Given the description of an element on the screen output the (x, y) to click on. 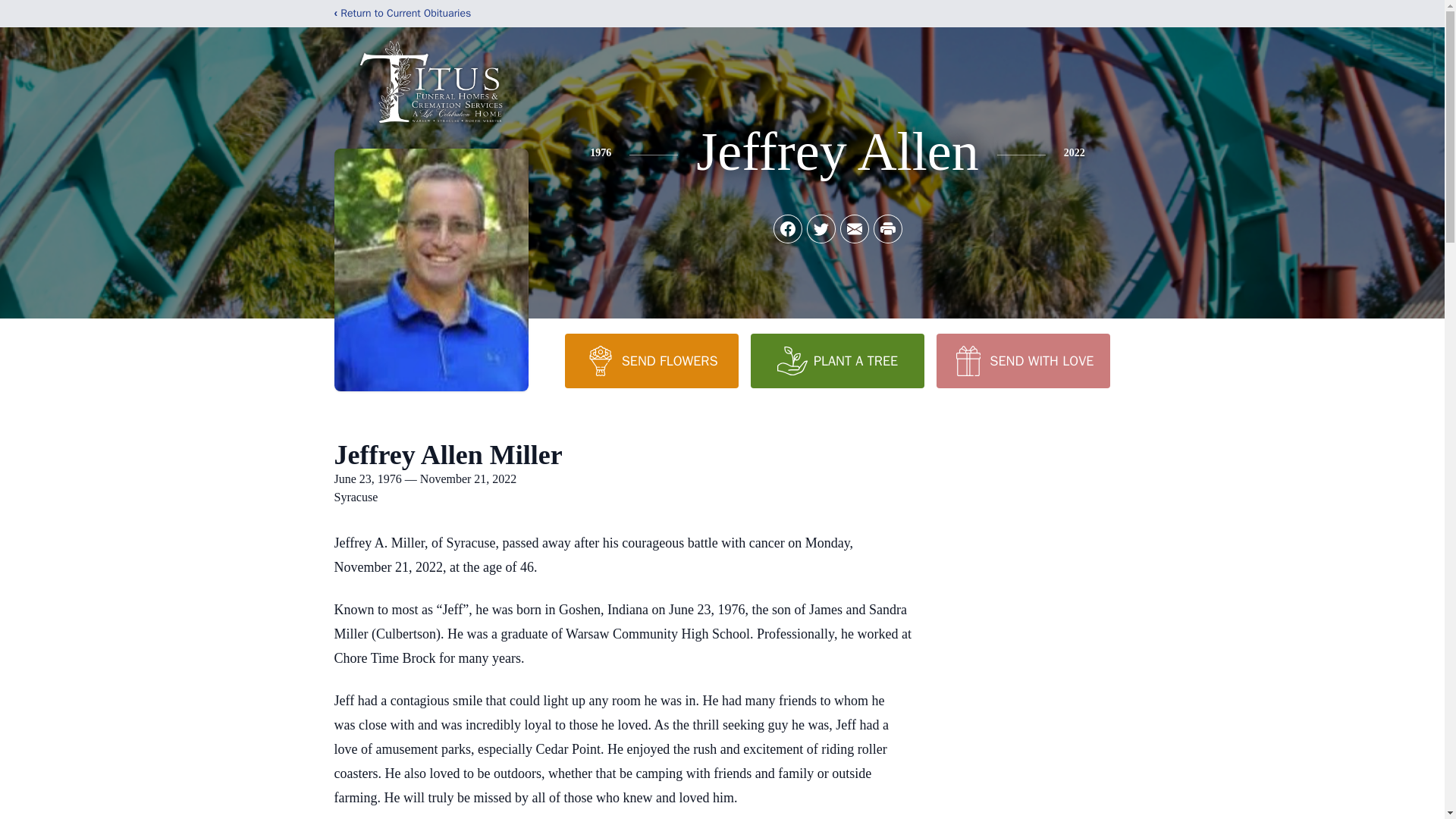
SEND FLOWERS (651, 360)
SEND WITH LOVE (1022, 360)
PLANT A TREE (837, 360)
